Given the description of an element on the screen output the (x, y) to click on. 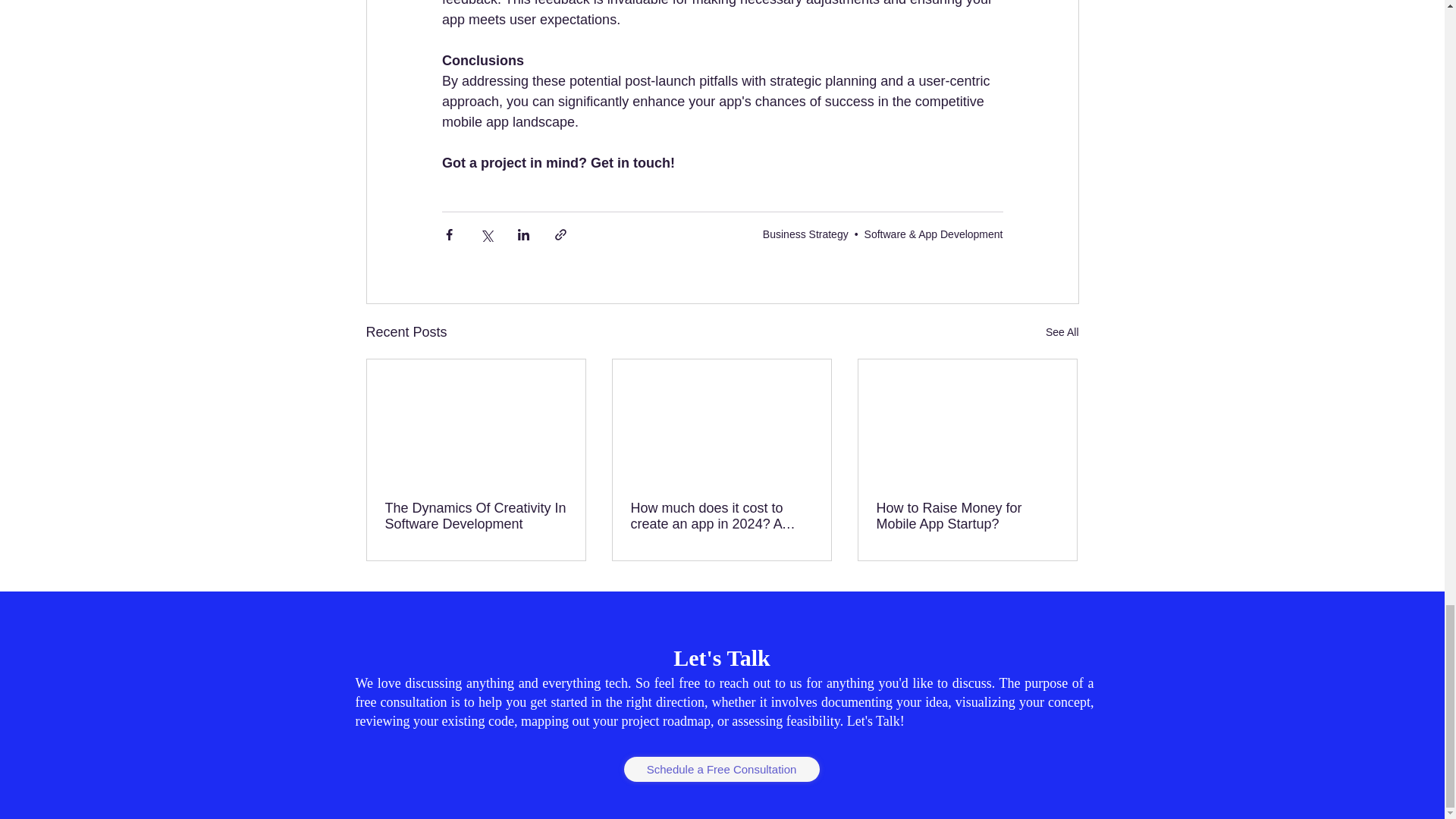
Schedule a Free Consultation (720, 769)
See All (1061, 332)
The Dynamics Of Creativity In Software Development (476, 516)
How to Raise Money for Mobile App Startup? (967, 516)
Business Strategy (805, 234)
